Given the description of an element on the screen output the (x, y) to click on. 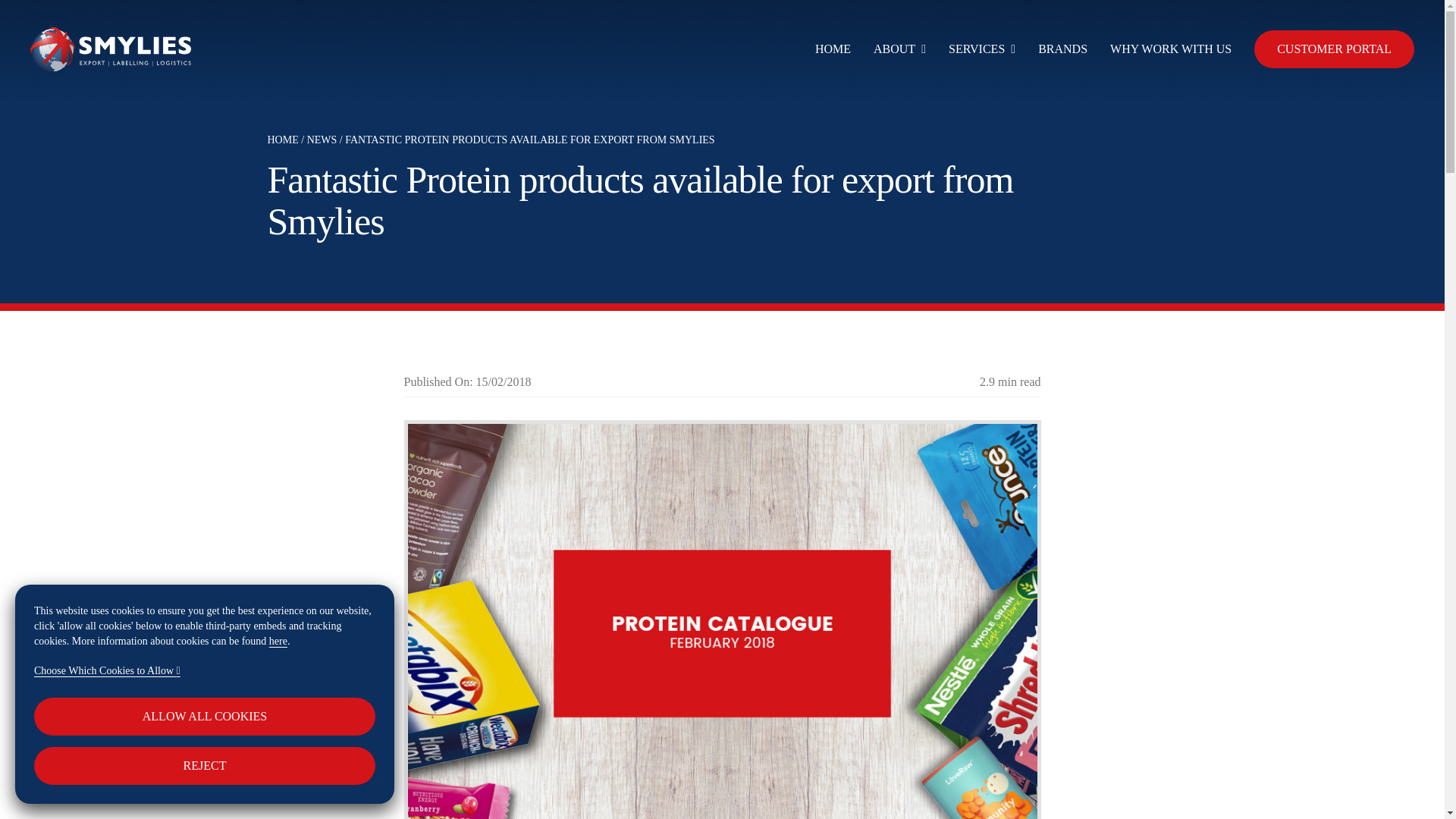
BRANDS (1062, 49)
SERVICES (981, 49)
CUSTOMER PORTAL (1333, 49)
ABOUT (899, 49)
WHY WORK WITH US (1170, 49)
